Given the description of an element on the screen output the (x, y) to click on. 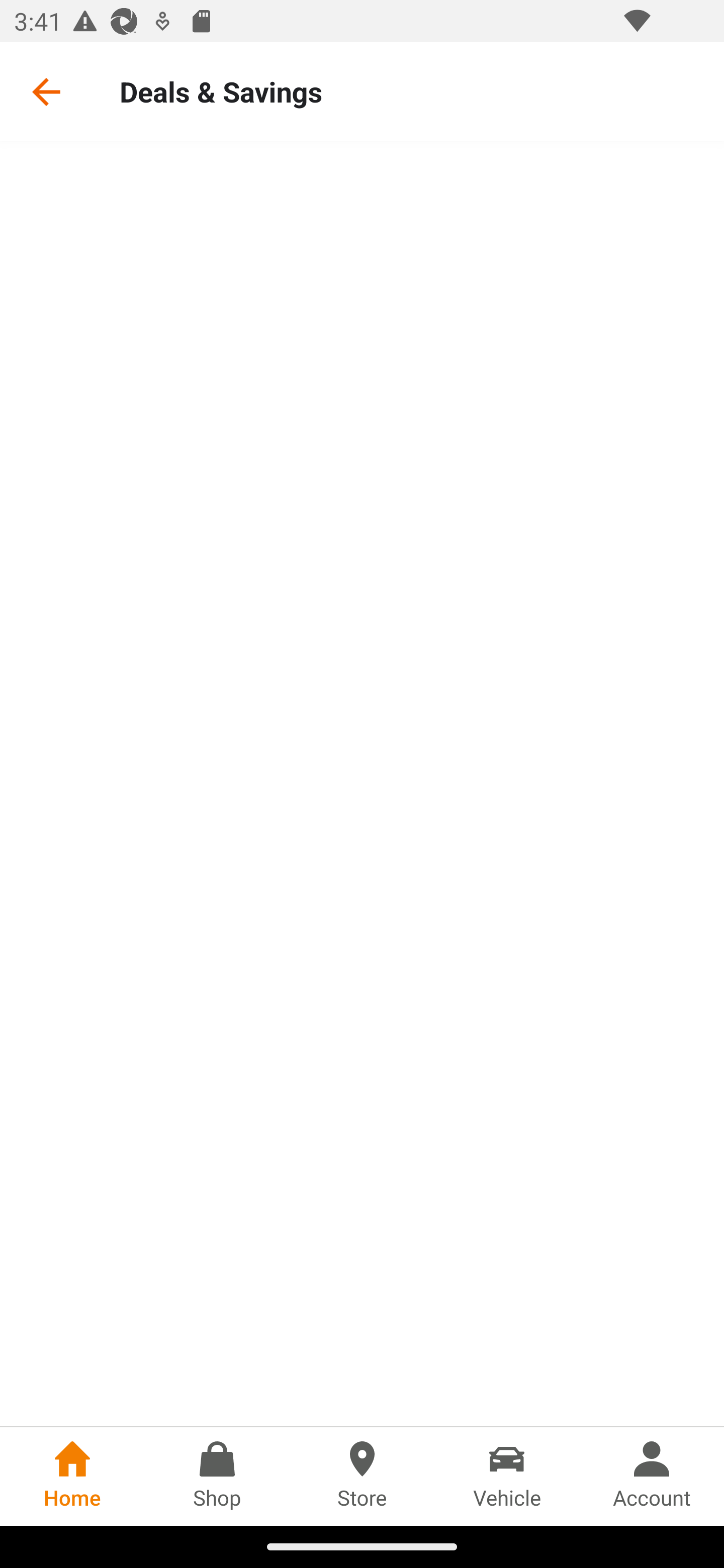
Go back (45, 91)
Home (72, 1475)
Shop (216, 1475)
Store (361, 1475)
Vehicle (506, 1475)
Account (651, 1475)
